Given the description of an element on the screen output the (x, y) to click on. 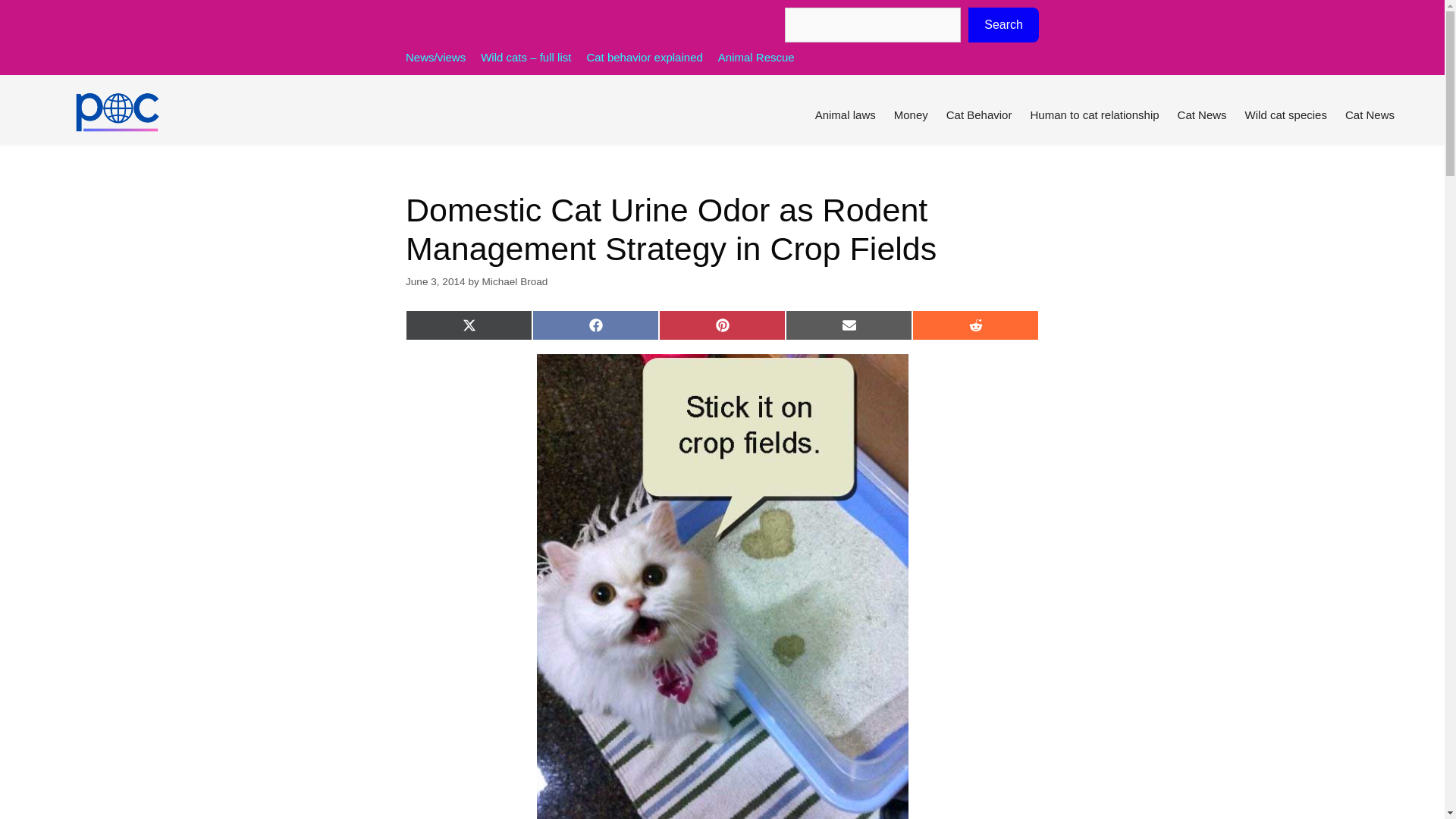
Share on Facebook (595, 325)
Michael Broad (514, 281)
Cat behavior explained (643, 56)
View all posts by Michael Broad (514, 281)
Animal Rescue (755, 56)
Cat Behavior (979, 115)
Share on Pinterest (722, 325)
Money (911, 115)
Human to cat relationship (1093, 115)
Cat News (1202, 115)
